Given the description of an element on the screen output the (x, y) to click on. 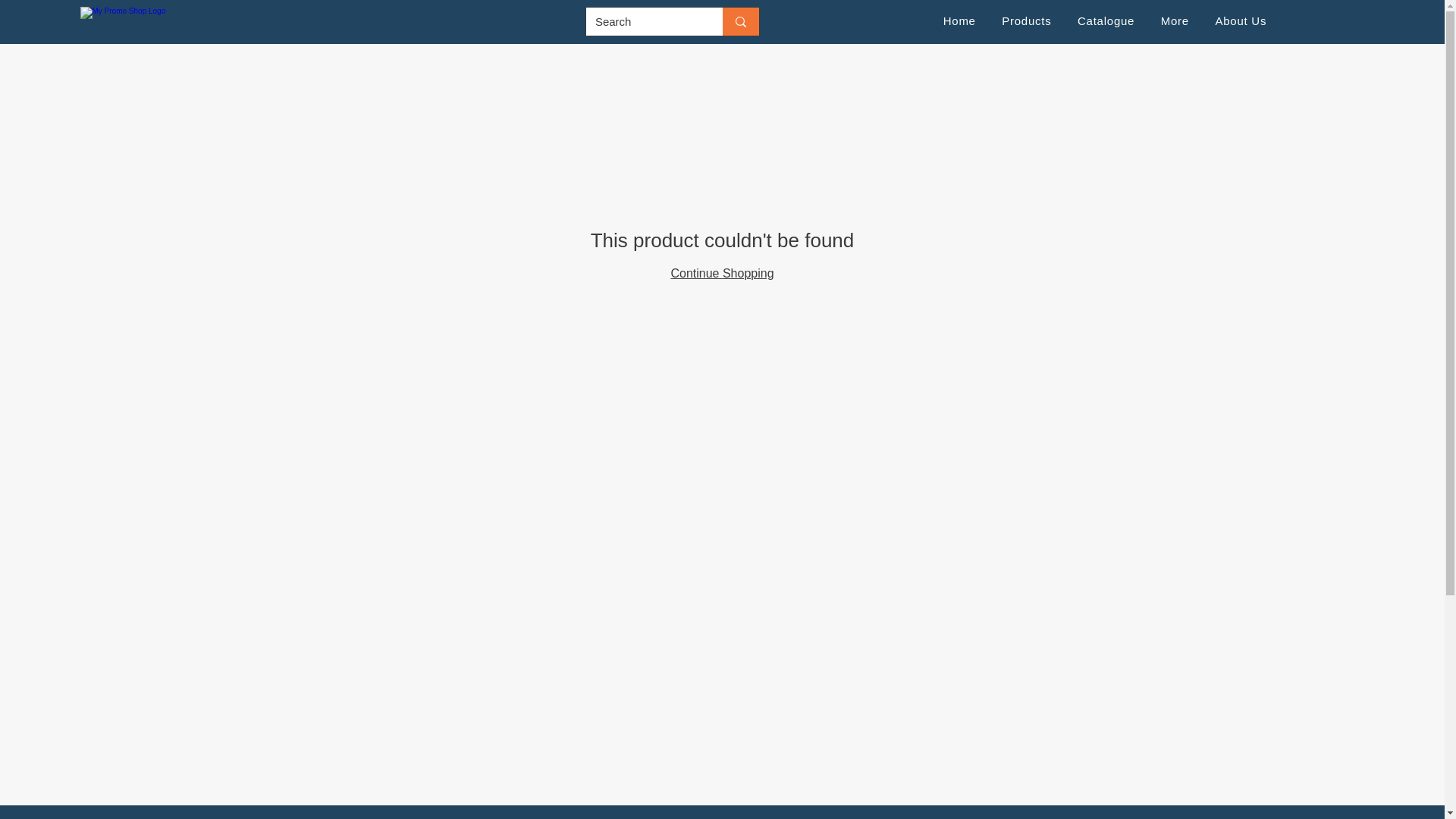
Catalogue (1106, 20)
Home (959, 20)
Continue Shopping (721, 273)
Products (1026, 20)
About Us (1240, 20)
